Given the description of an element on the screen output the (x, y) to click on. 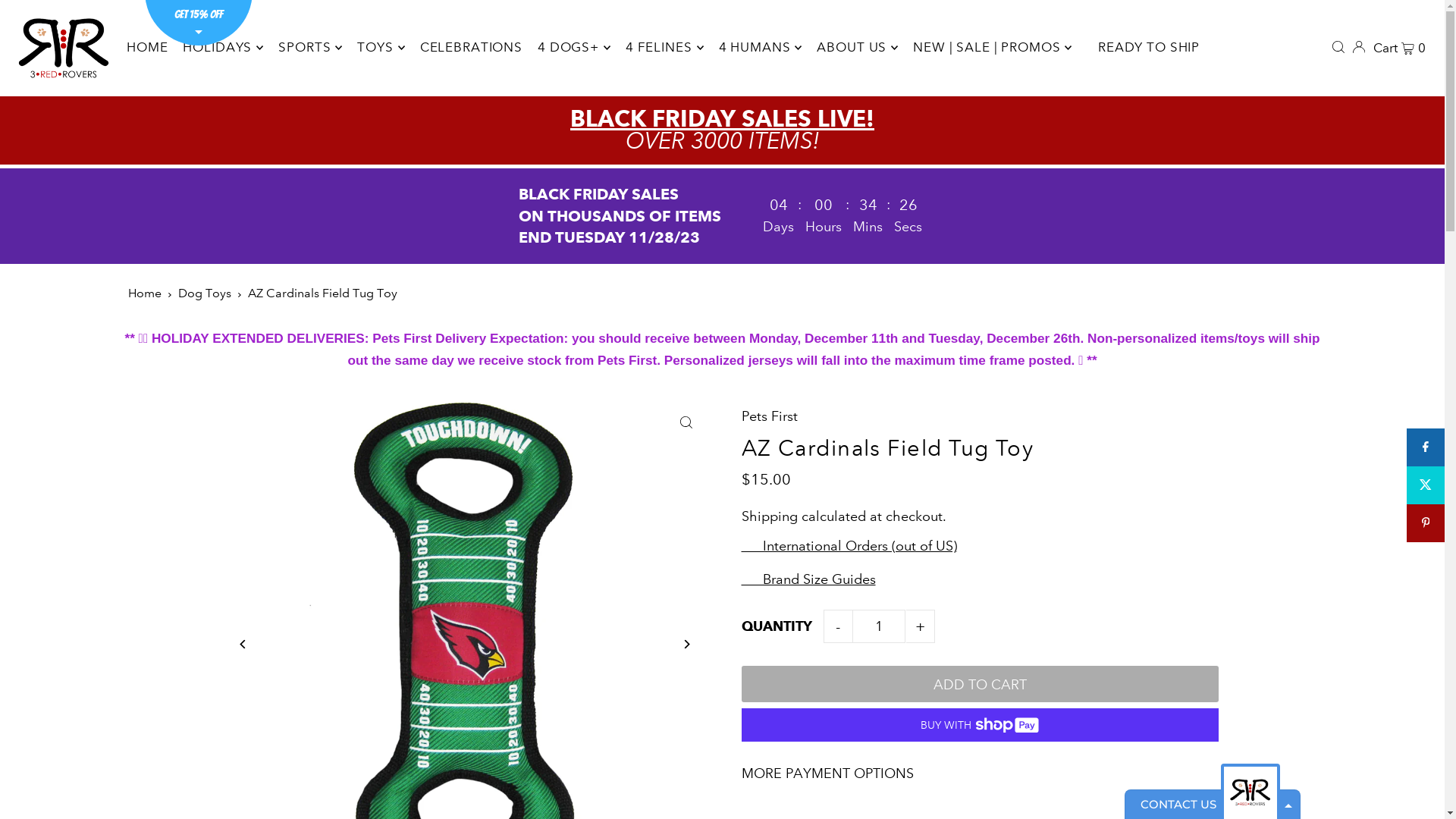
- Element type: text (837, 626)
HOME Element type: text (146, 47)
Click to zoom Element type: hover (685, 422)
ABOUT US Element type: text (856, 47)
4 DOGS+ Element type: text (573, 47)
4 FELINES Element type: text (664, 47)
Shipping Element type: text (769, 516)
SPORTS Element type: text (310, 47)
4 HUMANS Element type: text (760, 47)
Add to Cart Element type: text (979, 683)
MORE PAYMENT OPTIONS Element type: text (979, 773)
+ Element type: text (919, 626)
Dog Toys Element type: text (204, 292)
BLACK FRIDAY SALES LIVE! Element type: text (722, 118)
CELEBRATIONS Element type: text (471, 47)
HOLIDAYS Element type: text (222, 47)
TOYS Element type: text (380, 47)
Home Element type: text (144, 292)
NEW | SALE | PROMOS Element type: text (992, 47)
